Given the description of an element on the screen output the (x, y) to click on. 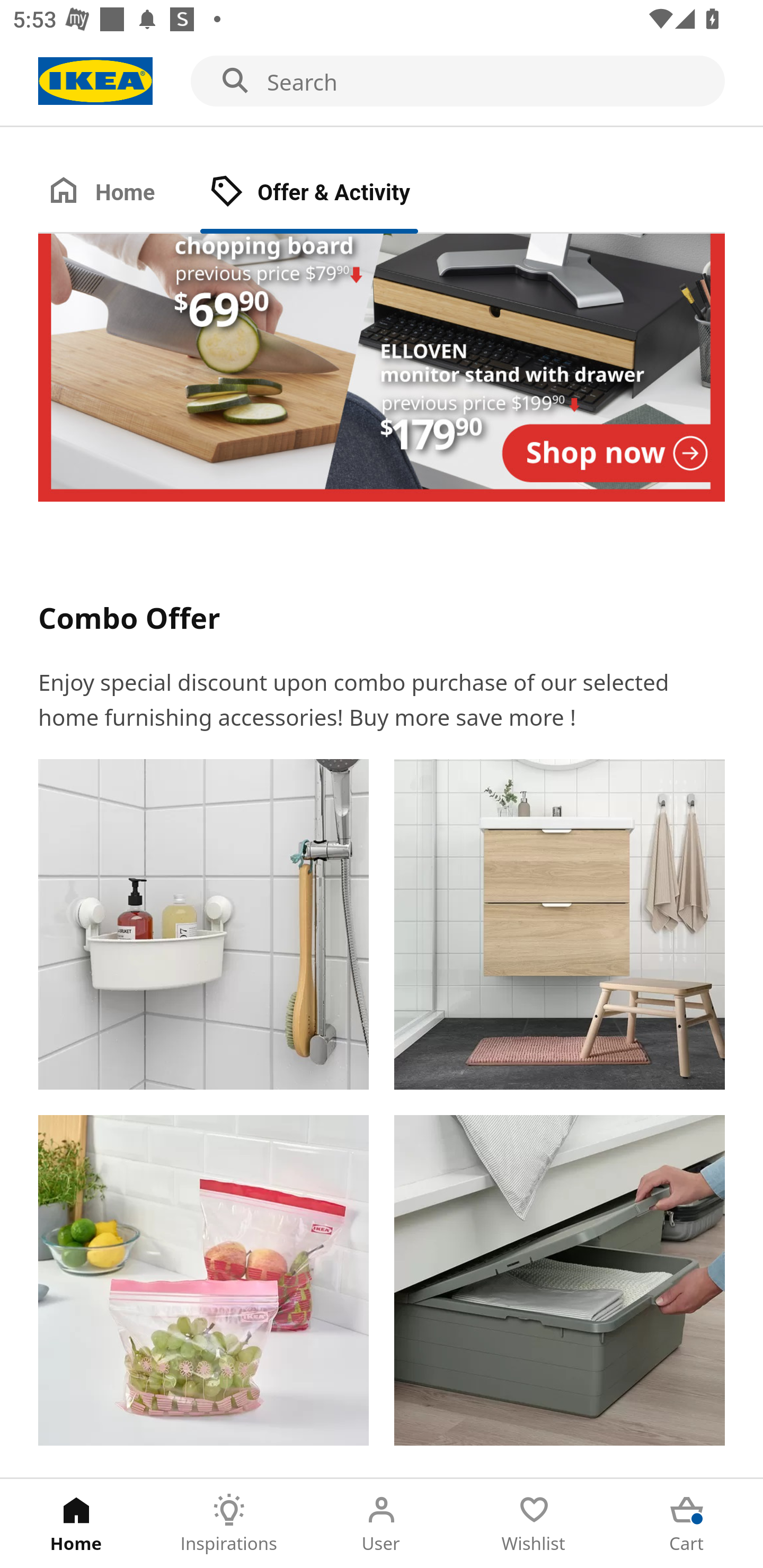
Search (381, 81)
Home
Tab 1 of 2 (118, 192)
Offer & Activity
Tab 2 of 2 (327, 192)
Home
Tab 1 of 5 (76, 1522)
Inspirations
Tab 2 of 5 (228, 1522)
User
Tab 3 of 5 (381, 1522)
Wishlist
Tab 4 of 5 (533, 1522)
Cart
Tab 5 of 5 (686, 1522)
